Given the description of an element on the screen output the (x, y) to click on. 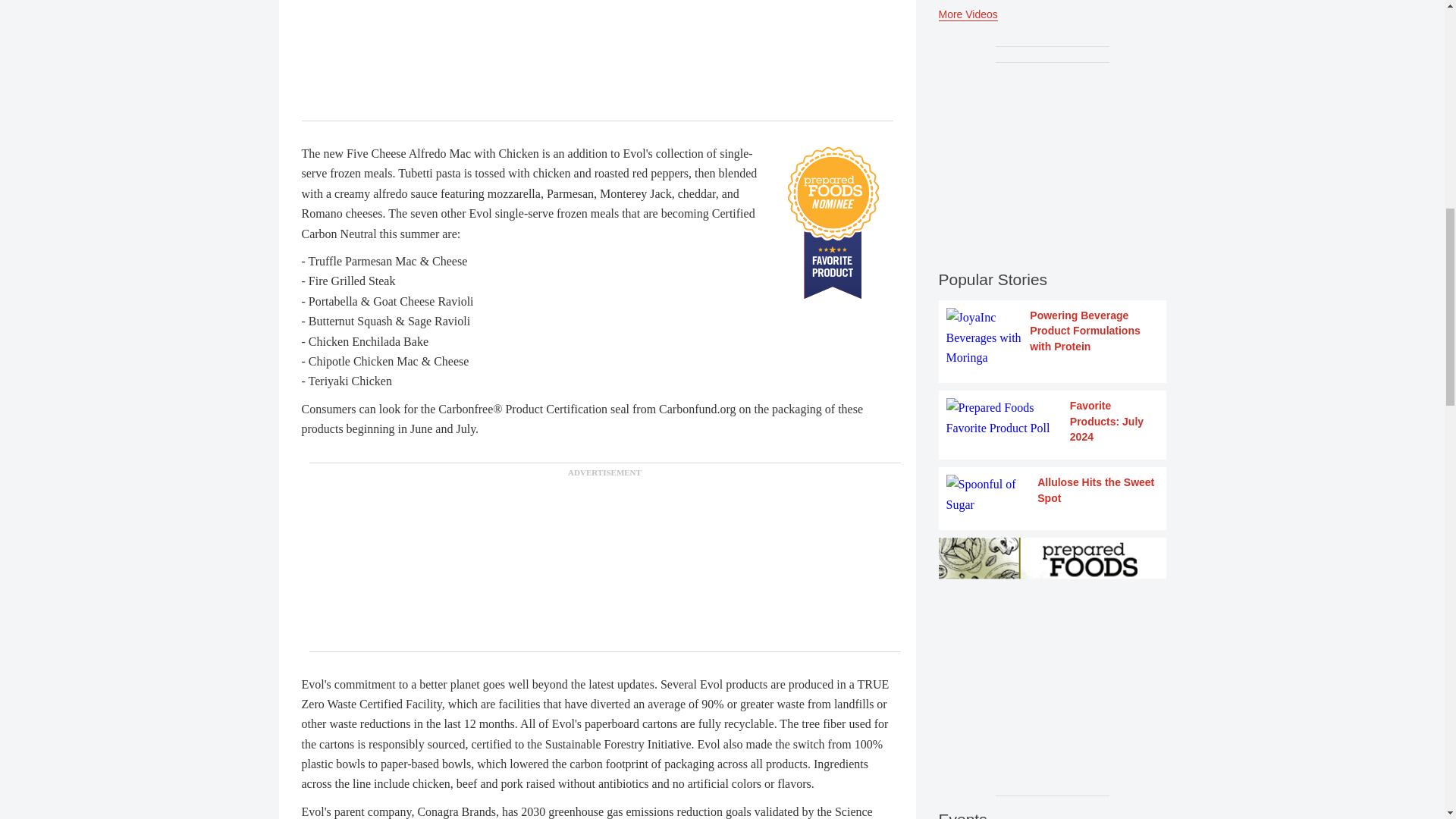
Favorite Products: July 2024 (1052, 421)
Powering Beverage Product Formulations with Protein (1052, 337)
Allulose Hits the Sweet Spot (1052, 495)
